Given the description of an element on the screen output the (x, y) to click on. 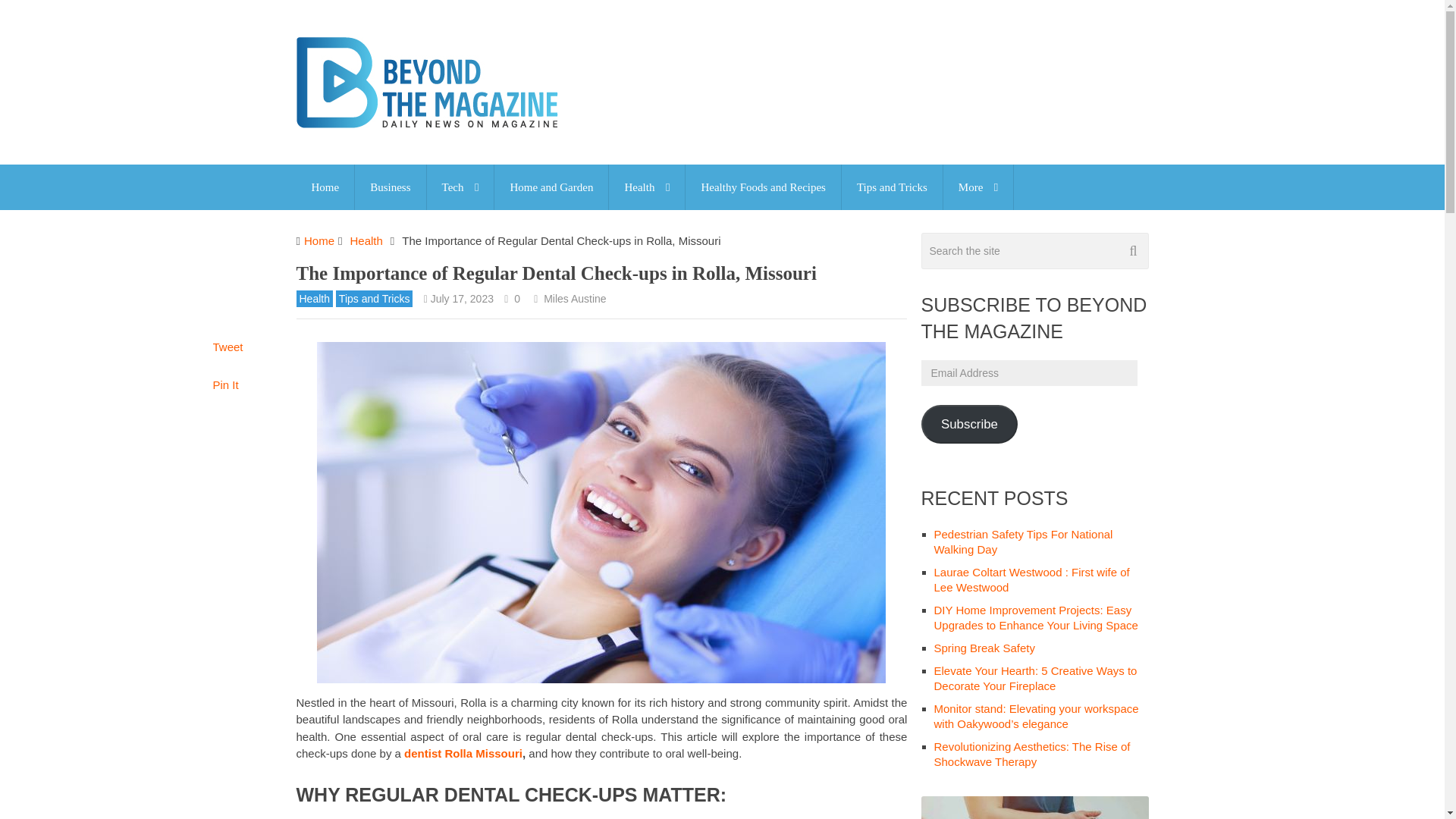
Healthy Foods and Recipes (763, 186)
Home and Garden (551, 186)
Health (646, 186)
Posts by Miles Austine (574, 298)
View all posts in Health (313, 298)
Tech (460, 186)
Home (324, 186)
View all posts in Tips and Tricks (374, 298)
More (978, 186)
Tips and Tricks (891, 186)
Business (390, 186)
